Given the description of an element on the screen output the (x, y) to click on. 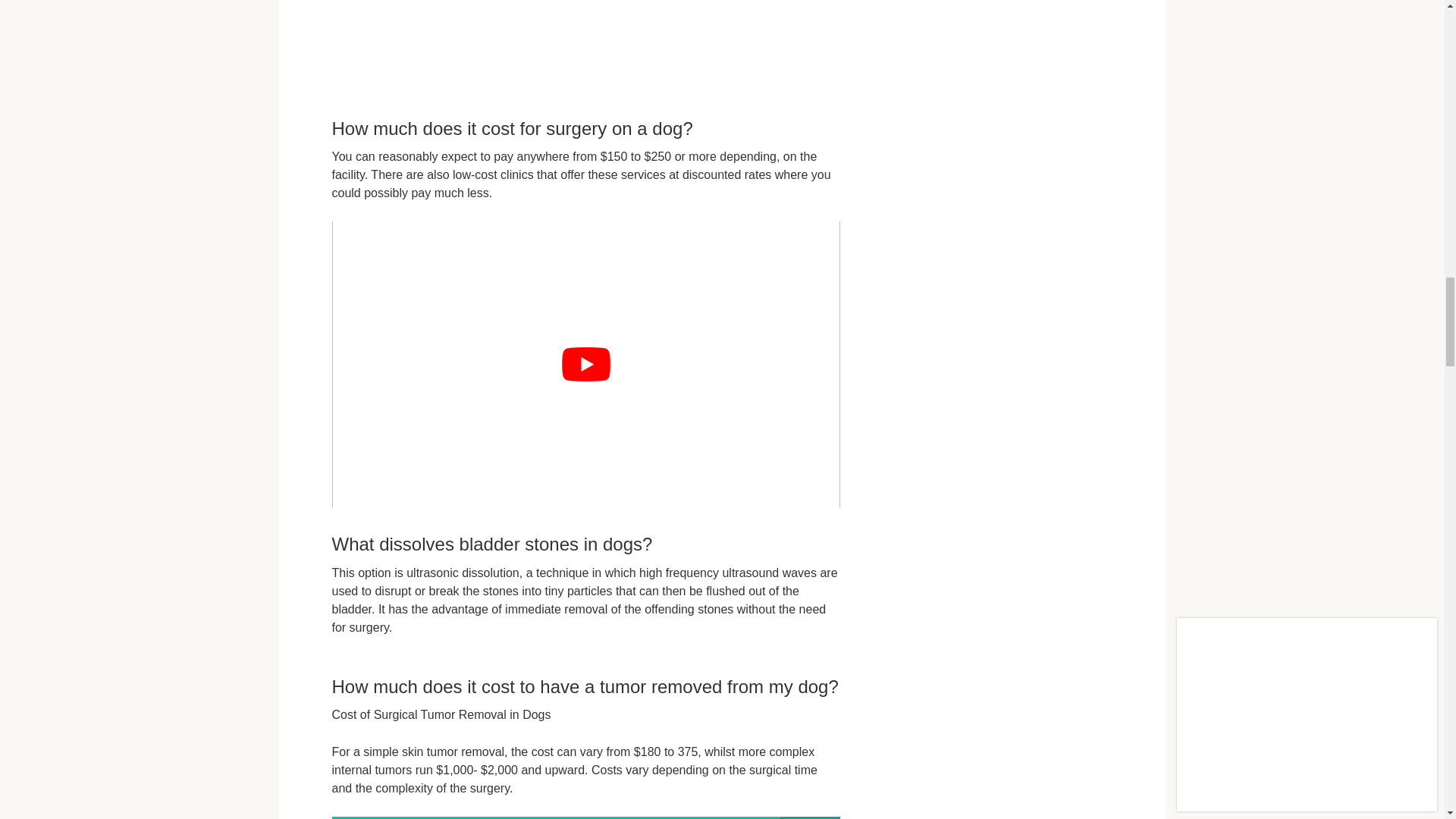
Advertisement (426, 41)
Advertisement (592, 41)
Advertisement (758, 41)
